Given the description of an element on the screen output the (x, y) to click on. 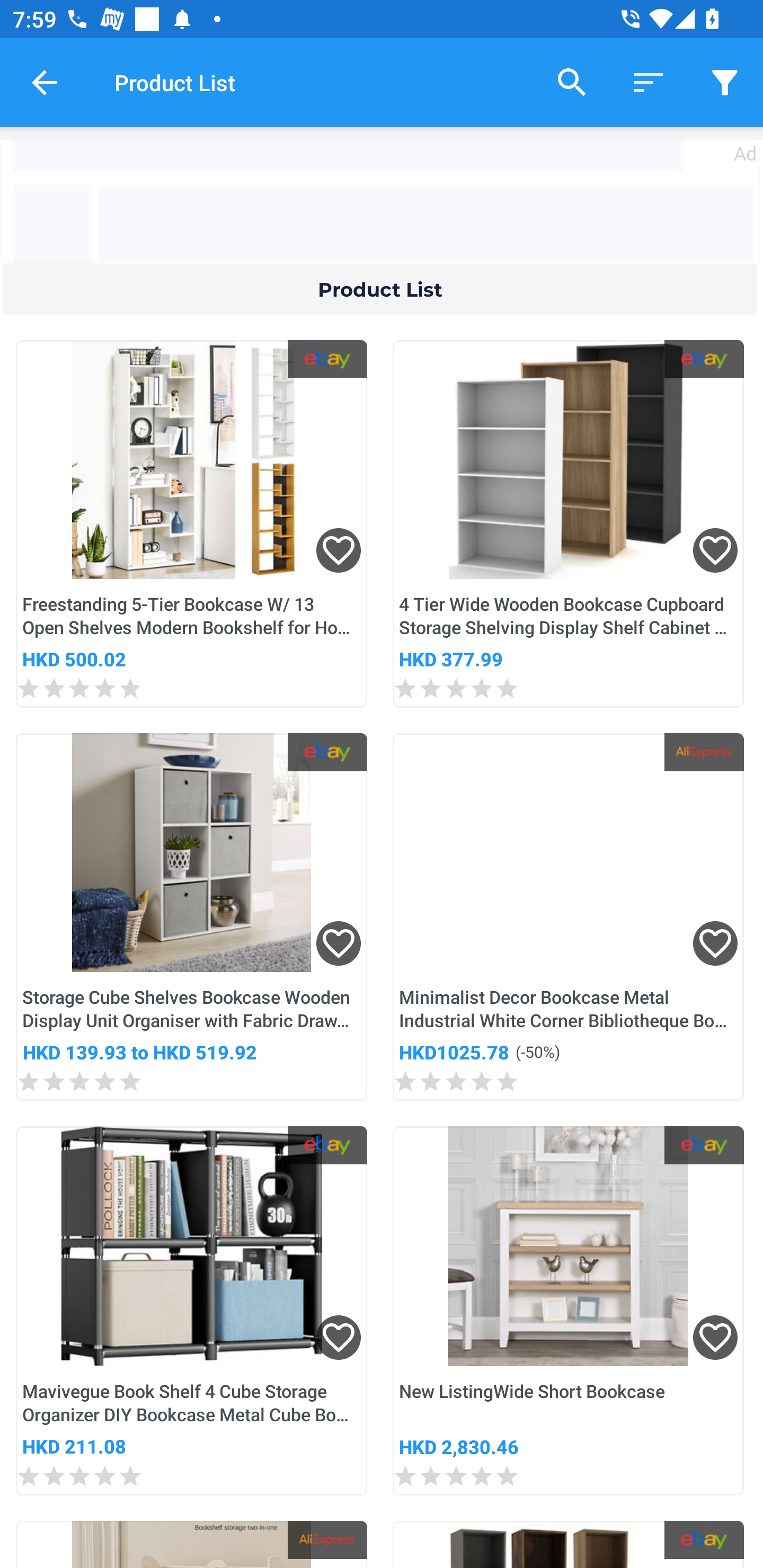
Navigate up (44, 82)
Search (572, 81)
short (648, 81)
short (724, 81)
New ListingWide Short Bookcase HKD 2,830.46 0.0 (567, 1310)
